Given the description of an element on the screen output the (x, y) to click on. 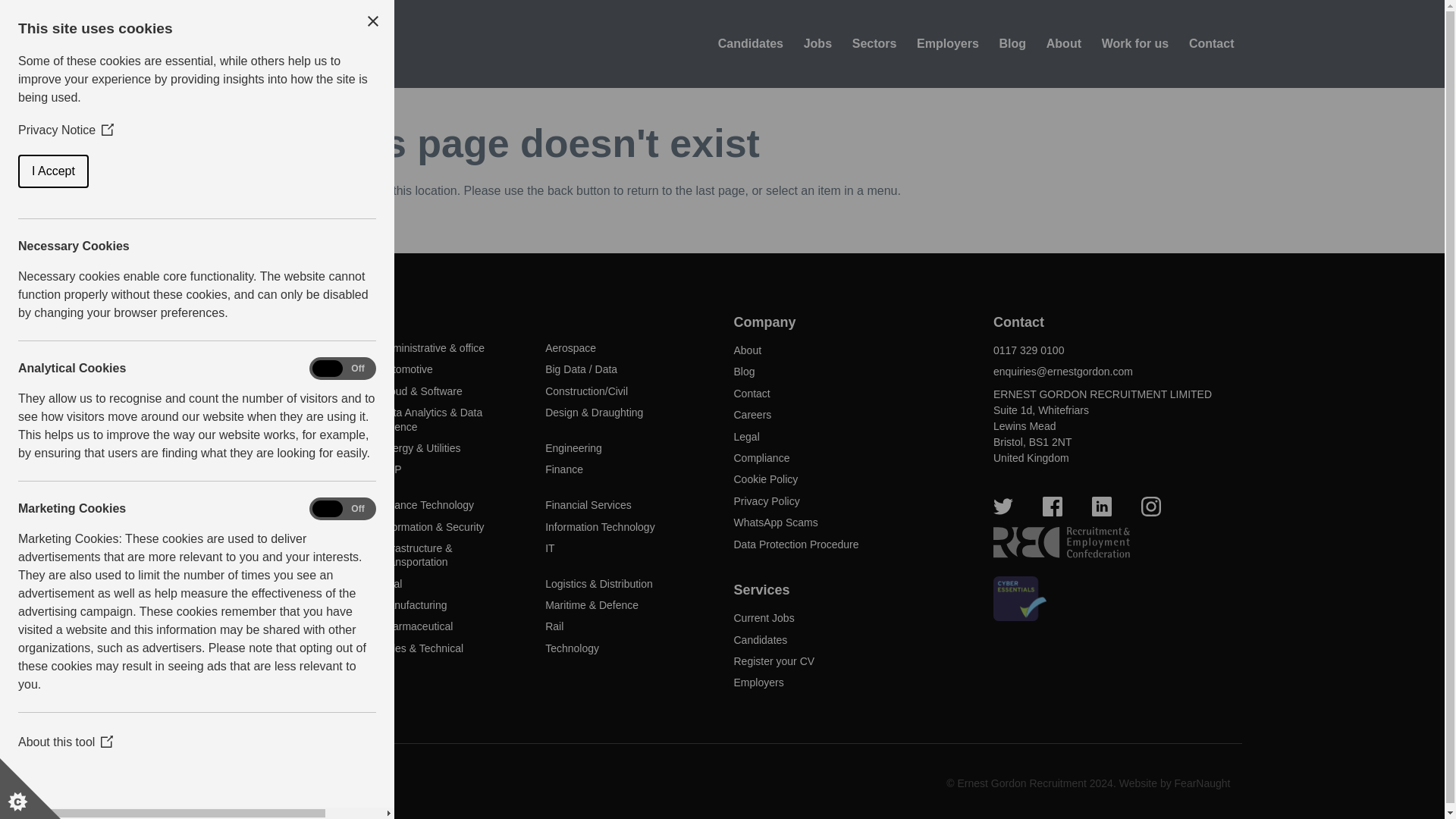
Sectors (874, 43)
Business Intelligence (264, 390)
Human Resources (257, 526)
ERP (390, 469)
Aerospace (569, 347)
Candidates (750, 43)
Financial Services (587, 504)
Information Technology (599, 526)
Cyber Security (248, 412)
Blog (1012, 43)
Finance (563, 469)
Contact (1210, 43)
About (1064, 43)
Employers (947, 43)
Automotive (406, 369)
